Given the description of an element on the screen output the (x, y) to click on. 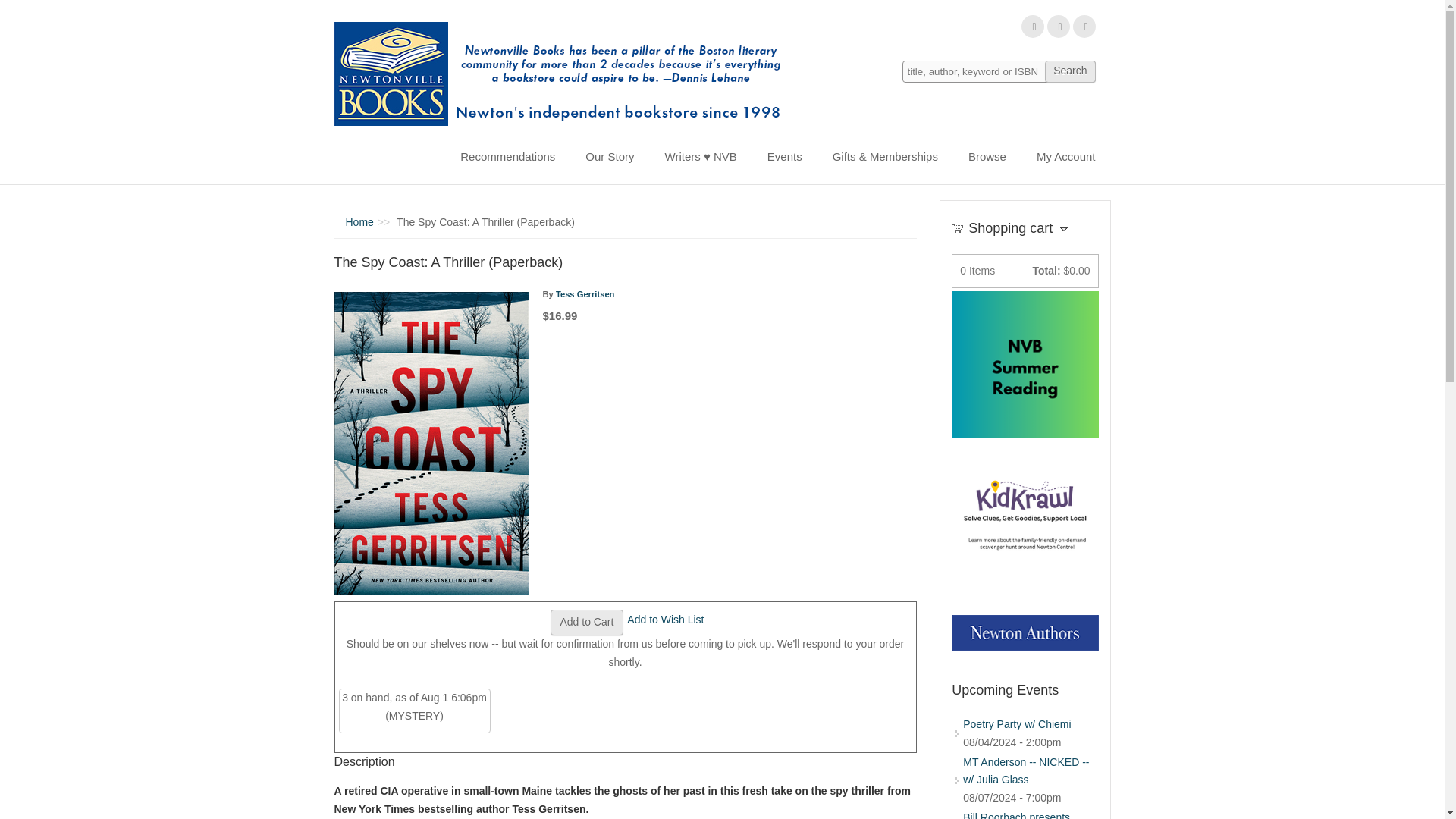
Home (562, 74)
My Account (1066, 156)
Enter the terms you wish to search for. (999, 71)
Search (1069, 71)
Home (360, 222)
Tess Gerritsen (585, 293)
Recommendations (507, 156)
Our Story (609, 156)
Add to Cart (587, 622)
Search (1069, 71)
Events (784, 156)
Add to Wish List (665, 619)
View your shopping cart. (957, 227)
Browse (987, 156)
